Given the description of an element on the screen output the (x, y) to click on. 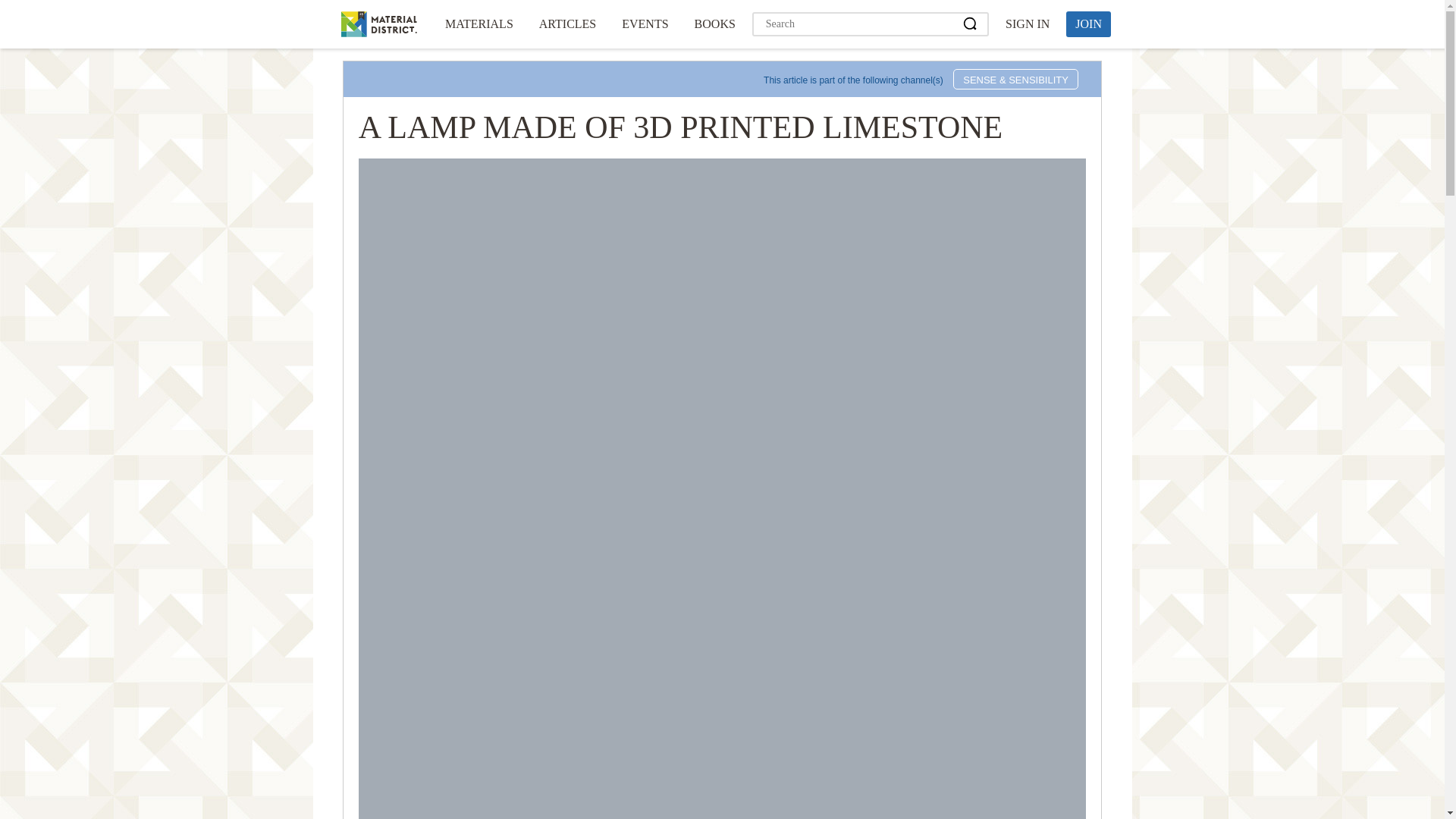
EVENTS (644, 23)
BOOKS (714, 23)
JOIN (1087, 23)
ARTICLES (567, 23)
MATERIALS (478, 23)
MaterialDistrict (378, 23)
Search (970, 24)
SIGN IN (1026, 23)
MATERIALDISTRICT (378, 23)
Search (970, 24)
